Given the description of an element on the screen output the (x, y) to click on. 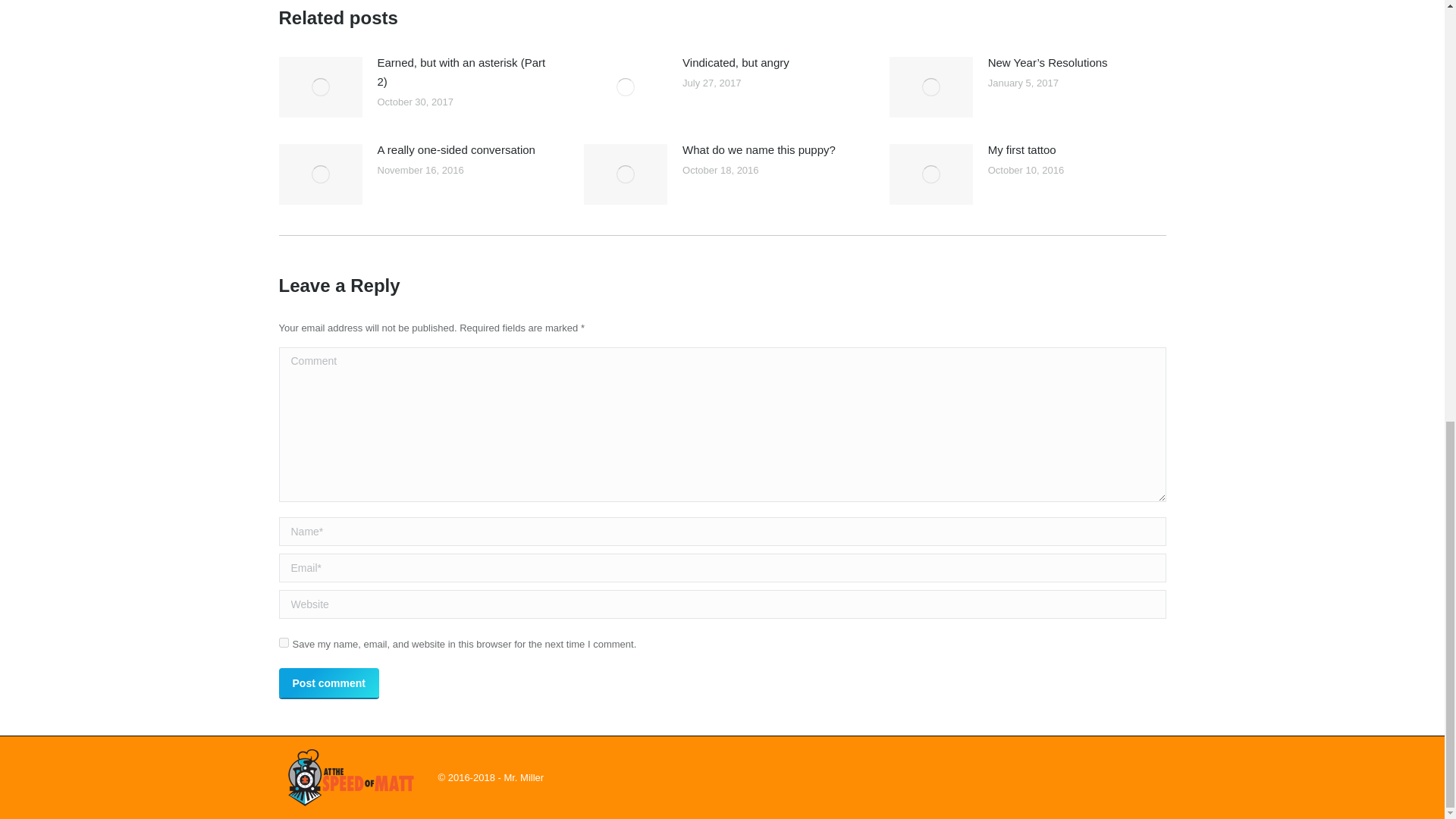
yes (283, 642)
